Given the description of an element on the screen output the (x, y) to click on. 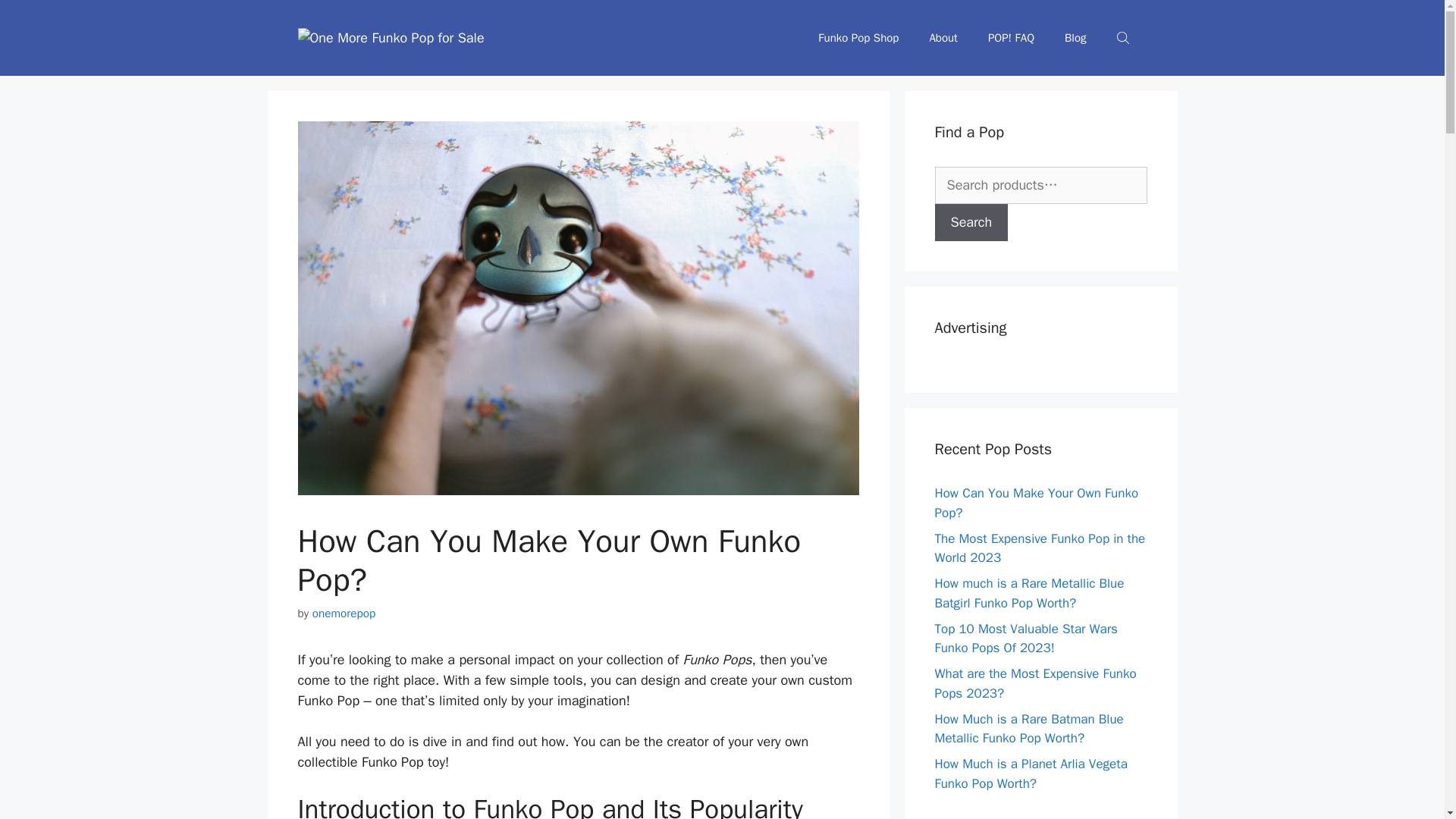
The Most Expensive Funko Pop in the World 2023 (1039, 548)
What are the Most Expensive Funko Pops 2023? (1034, 683)
Blog (1074, 37)
Search (970, 221)
About (943, 37)
View all posts by onemorepop (344, 613)
How Can You Make Your Own Funko Pop? (1036, 502)
POP! FAQ (1010, 37)
How Much is a Rare Batman Blue Metallic Funko Pop Worth? (1028, 728)
Top 10 Most Valuable Star Wars Funko Pops Of 2023! (1025, 637)
